Given the description of an element on the screen output the (x, y) to click on. 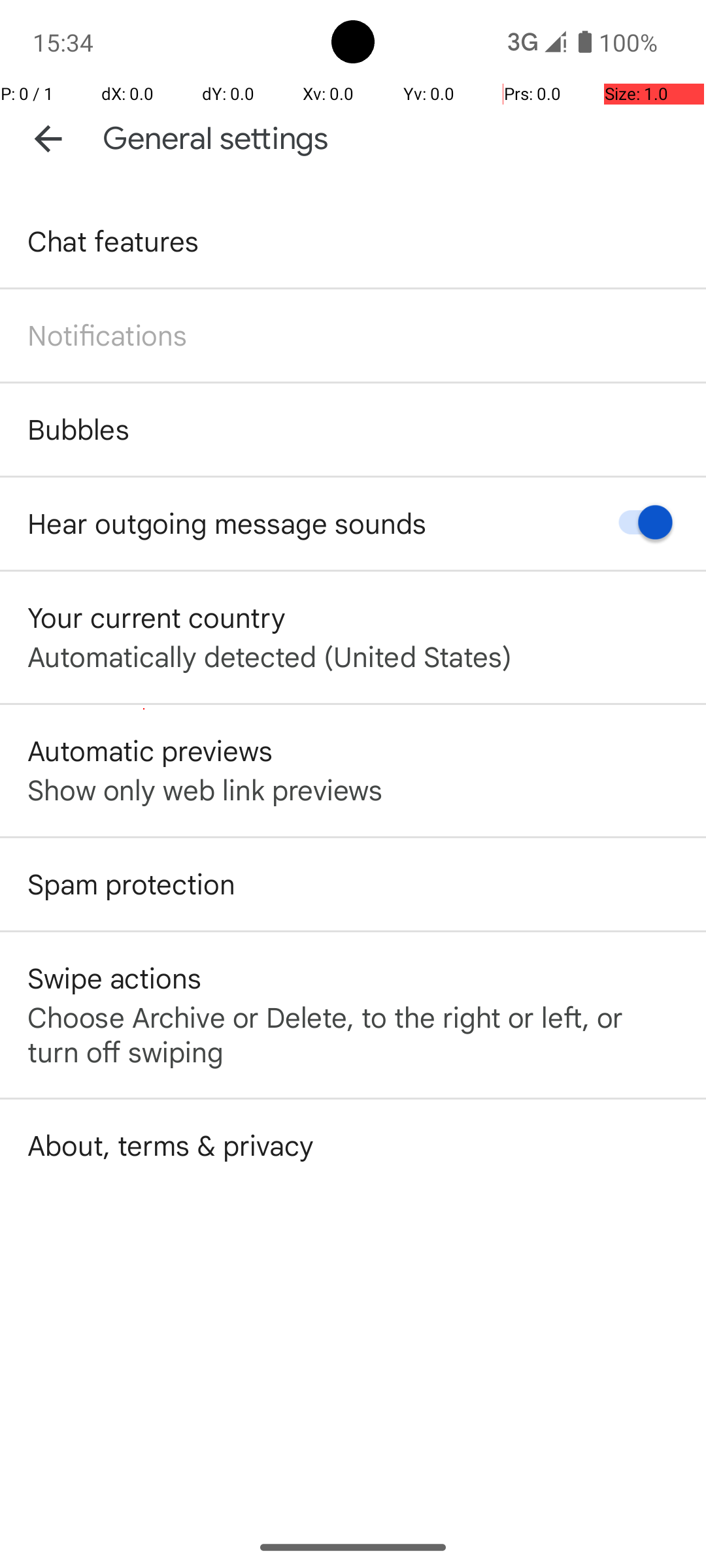
General settings Element type: android.widget.TextView (215, 138)
Chat features Element type: android.widget.TextView (113, 240)
Hear outgoing message sounds Element type: android.widget.TextView (226, 522)
Your current country Element type: android.widget.TextView (156, 616)
Automatically detected (United States) Element type: android.widget.TextView (269, 655)
Automatic previews Element type: android.widget.TextView (149, 749)
Show only web link previews Element type: android.widget.TextView (205, 788)
Spam protection Element type: android.widget.TextView (131, 882)
Swipe actions Element type: android.widget.TextView (114, 976)
Choose Archive or Delete, to the right or left, or turn off swiping Element type: android.widget.TextView (352, 1033)
About, terms & privacy Element type: android.widget.TextView (170, 1144)
